Given the description of an element on the screen output the (x, y) to click on. 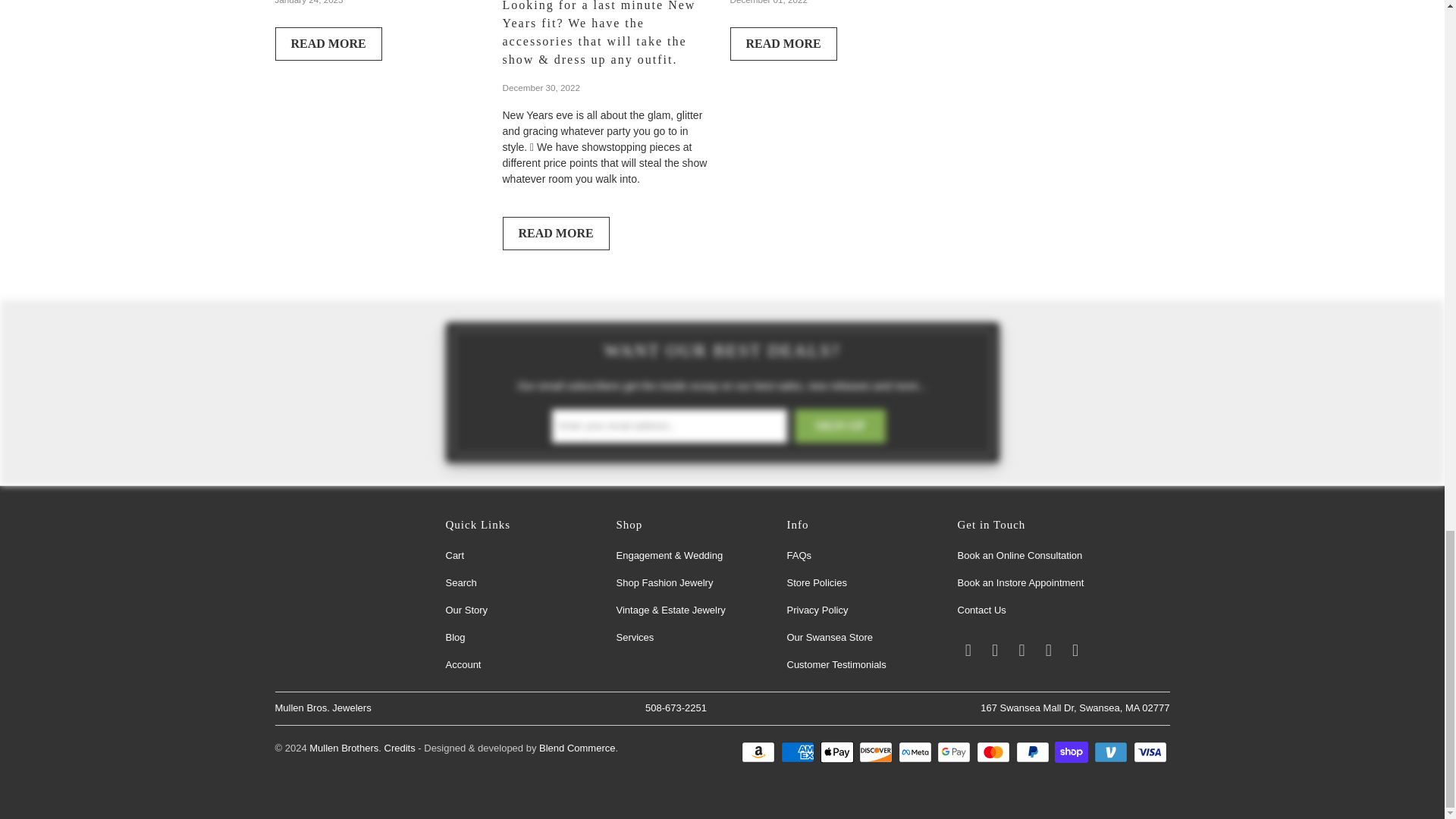
Shop Pay (1072, 752)
Sign Up (839, 426)
Visa (1150, 752)
Google Pay (955, 752)
Meta Pay (916, 752)
Venmo (1112, 752)
Mastercard (994, 752)
American Express (798, 752)
Amazon (759, 752)
Discover (877, 752)
